Given the description of an element on the screen output the (x, y) to click on. 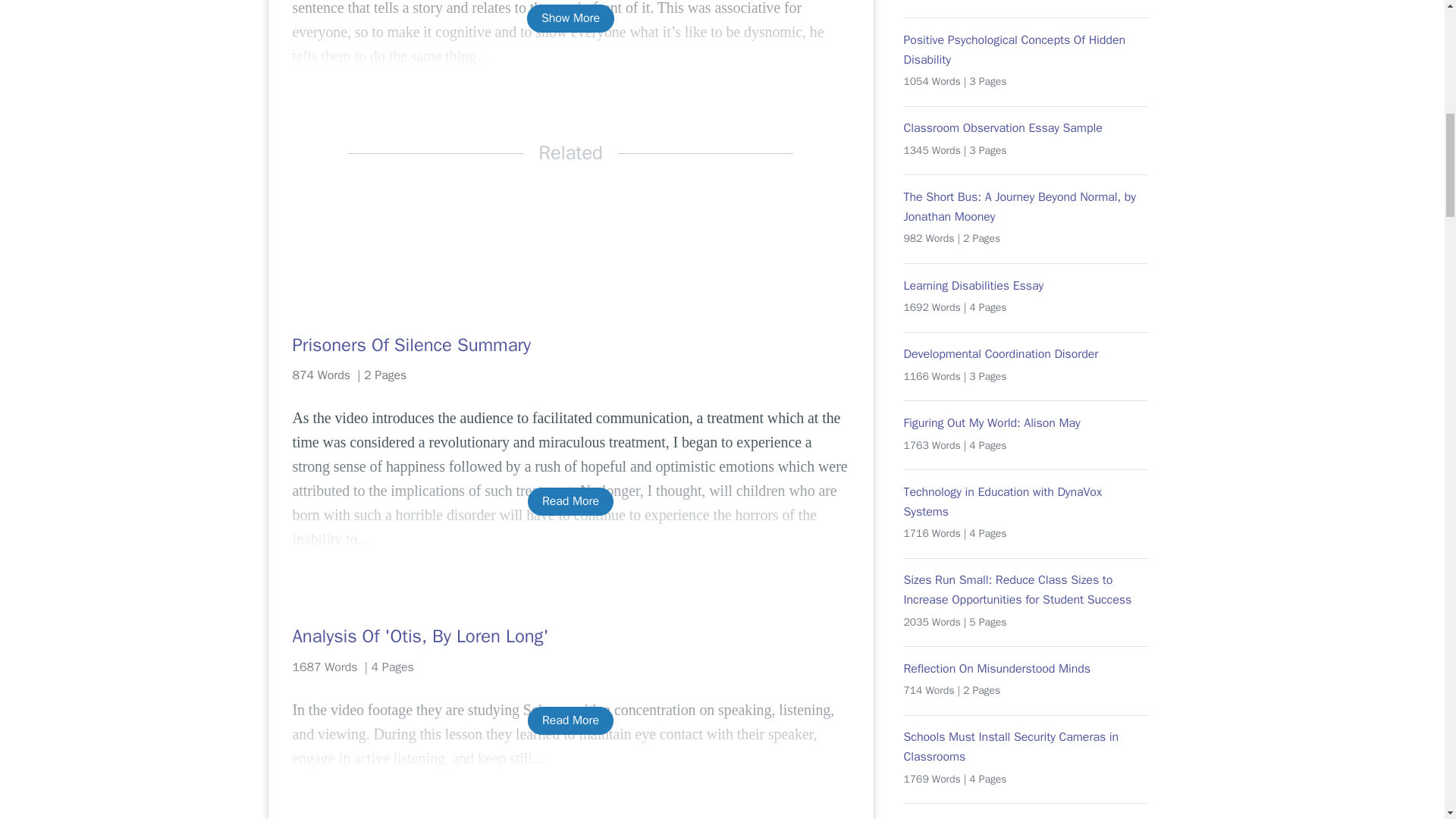
Read More (569, 501)
Read More (569, 720)
Analysis Of 'Otis, By Loren Long' (570, 636)
Show More (570, 18)
Prisoners Of Silence Summary (570, 344)
